Given the description of an element on the screen output the (x, y) to click on. 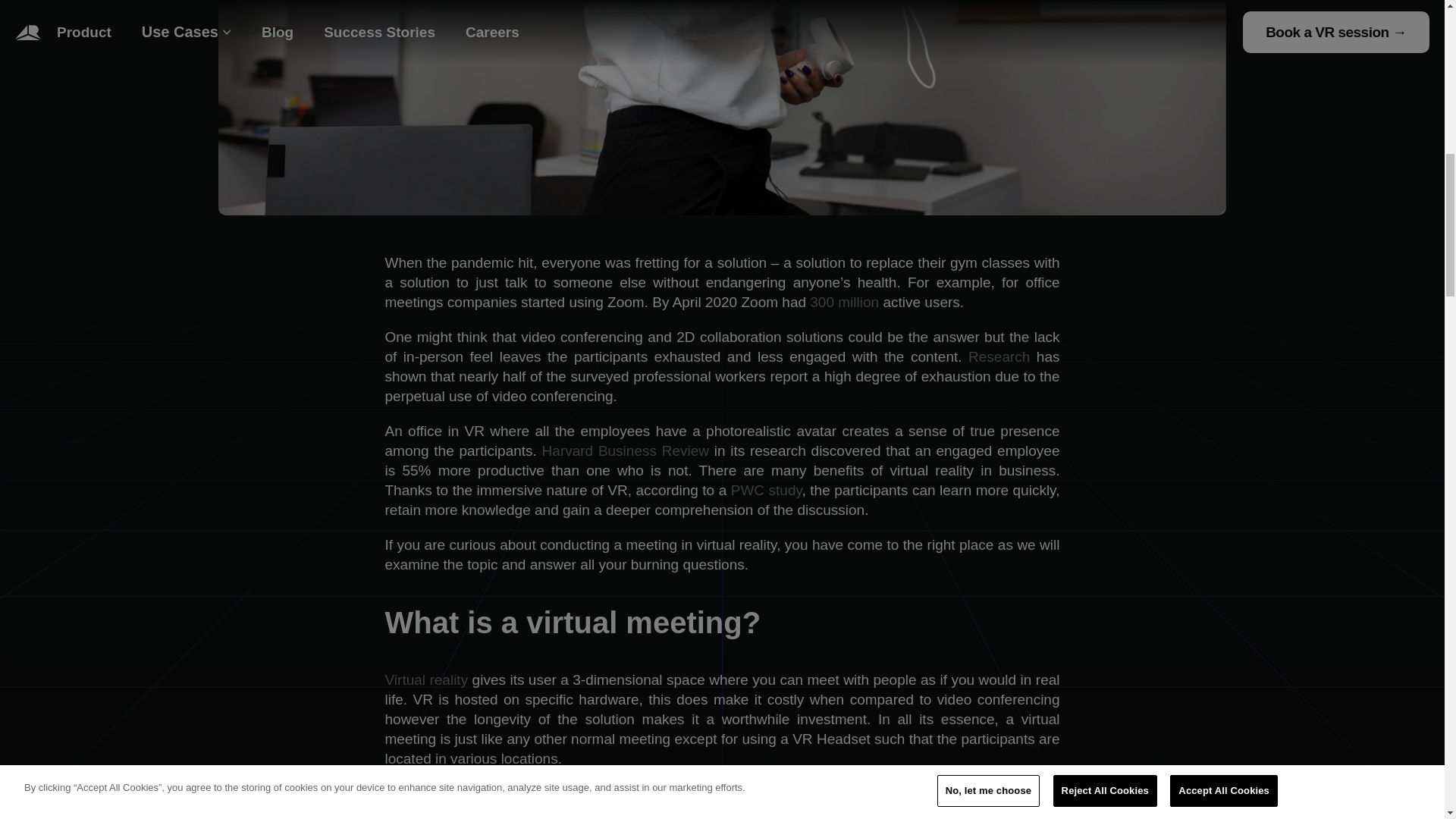
Virtual reality (426, 679)
Harvard Business Review (625, 450)
Research (998, 356)
300 million (844, 302)
PWC study (766, 489)
